Given the description of an element on the screen output the (x, y) to click on. 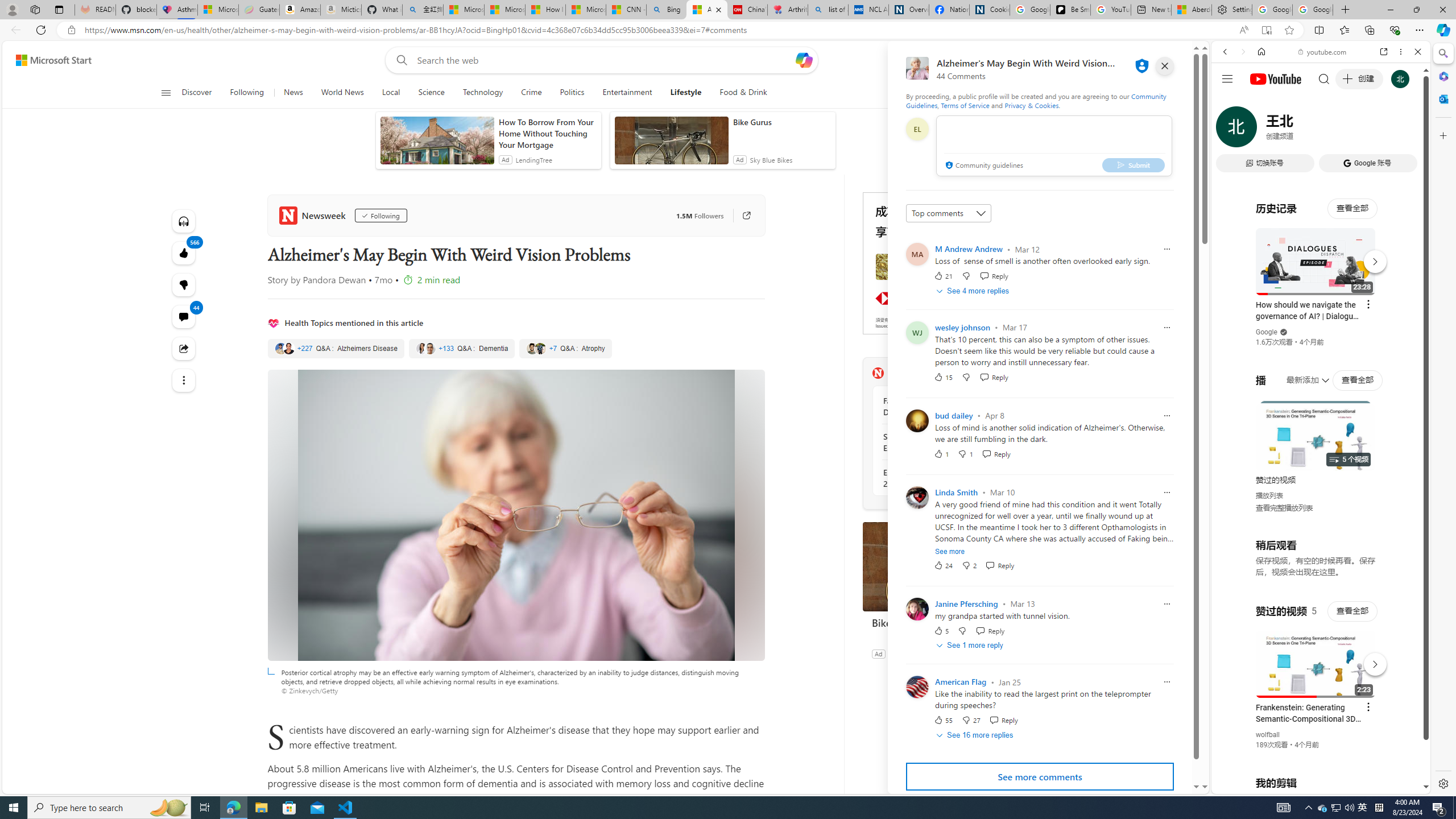
Politics (572, 92)
Skip to footer (46, 59)
Sort comments by (948, 212)
Music (1320, 309)
566 (183, 284)
See 4 more replies (973, 291)
Discover (197, 92)
Food & Drink (738, 92)
Microsoft 365 (1442, 76)
Discover (201, 92)
Lifestyle (685, 92)
